Given the description of an element on the screen output the (x, y) to click on. 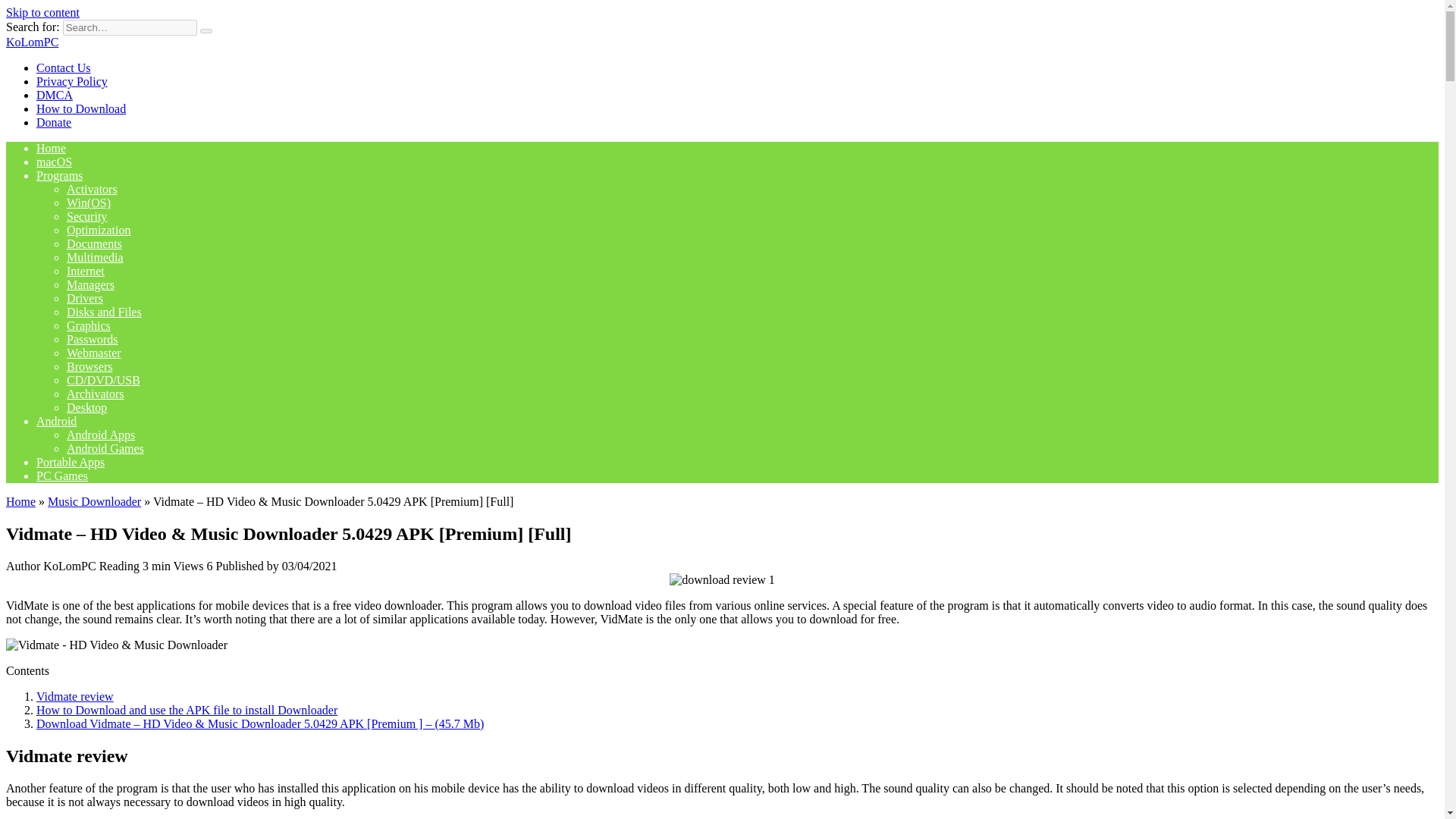
Managers (90, 284)
Graphics (88, 325)
Webmaster (93, 352)
Disks and Files (103, 311)
Multimedia (94, 256)
Security (86, 215)
Music Downloader (94, 501)
Drivers (84, 297)
Browsers (89, 366)
Privacy Policy (71, 81)
Android (56, 420)
Contact Us (63, 67)
Vidmate review (74, 696)
KoLomPC (31, 42)
Documents (94, 243)
